Given the description of an element on the screen output the (x, y) to click on. 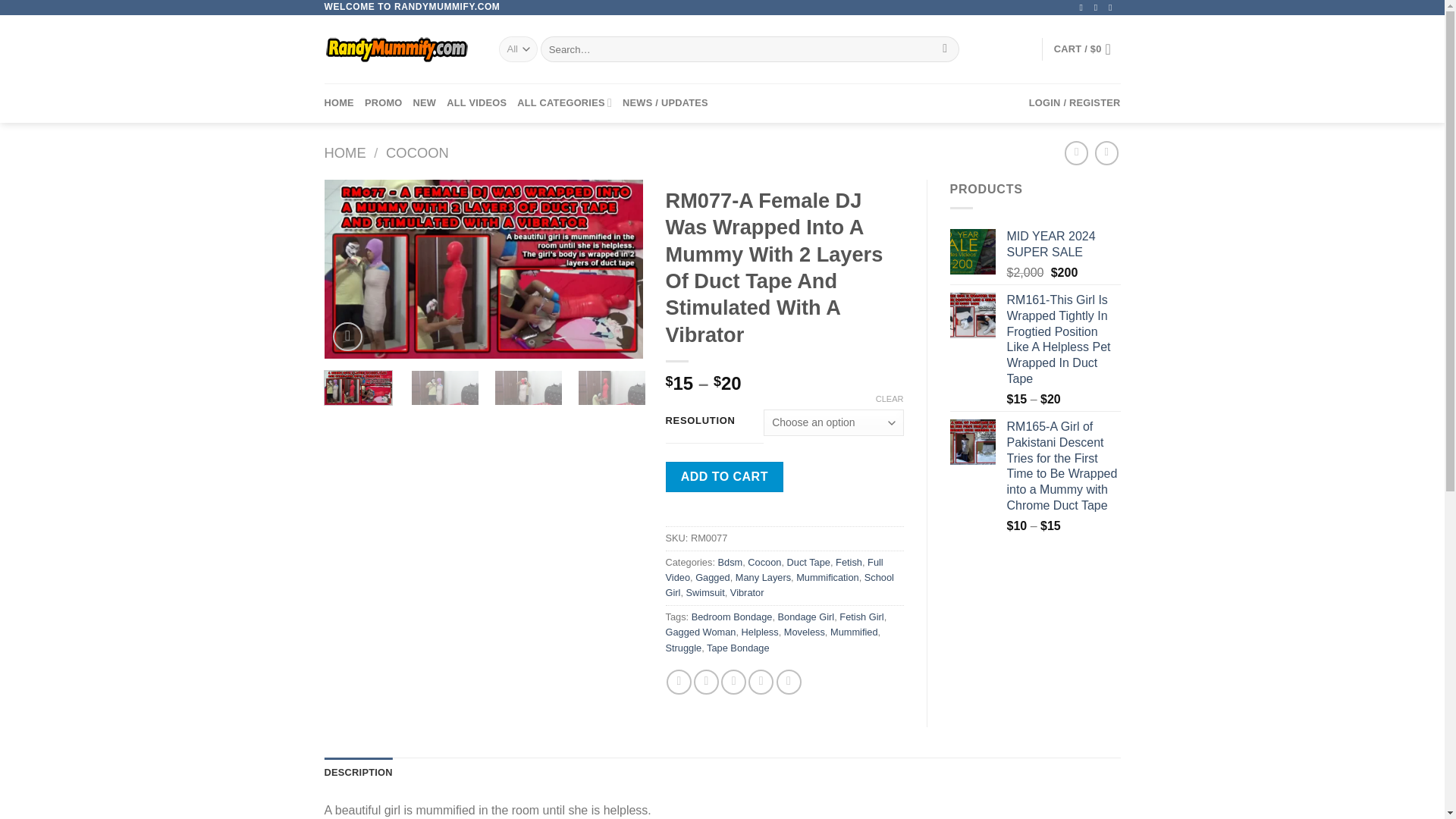
HOME (345, 152)
ALL CATEGORIES (563, 102)
PROMO (384, 102)
RM077 (483, 268)
ALL VIDEOS (476, 102)
COCOON (416, 152)
Search (945, 49)
Cart (1087, 49)
